Given the description of an element on the screen output the (x, y) to click on. 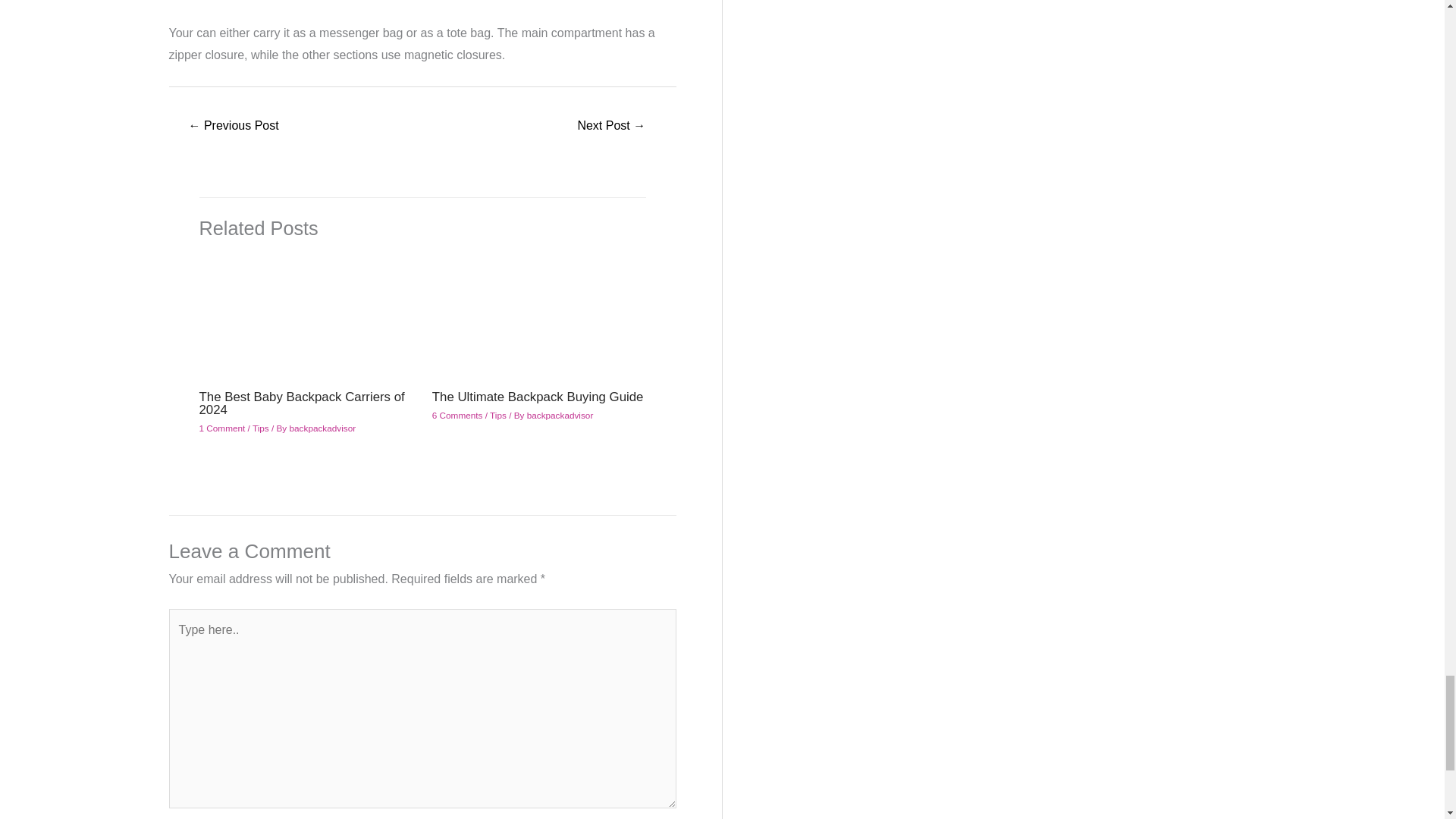
Tips (497, 415)
View all posts by backpackadvisor (322, 428)
Tips (260, 428)
1 Comment (221, 428)
The Best Baby Backpack Carriers of 2024 (301, 402)
Top 6 laptop backpacks: All new and picked in 2024 (611, 126)
The Ultimate Backpack Buying Guide (537, 396)
Laptop backpacks (233, 126)
View all posts by backpackadvisor (560, 415)
backpackadvisor (322, 428)
backpackadvisor (560, 415)
6 Comments (457, 415)
